Given the description of an element on the screen output the (x, y) to click on. 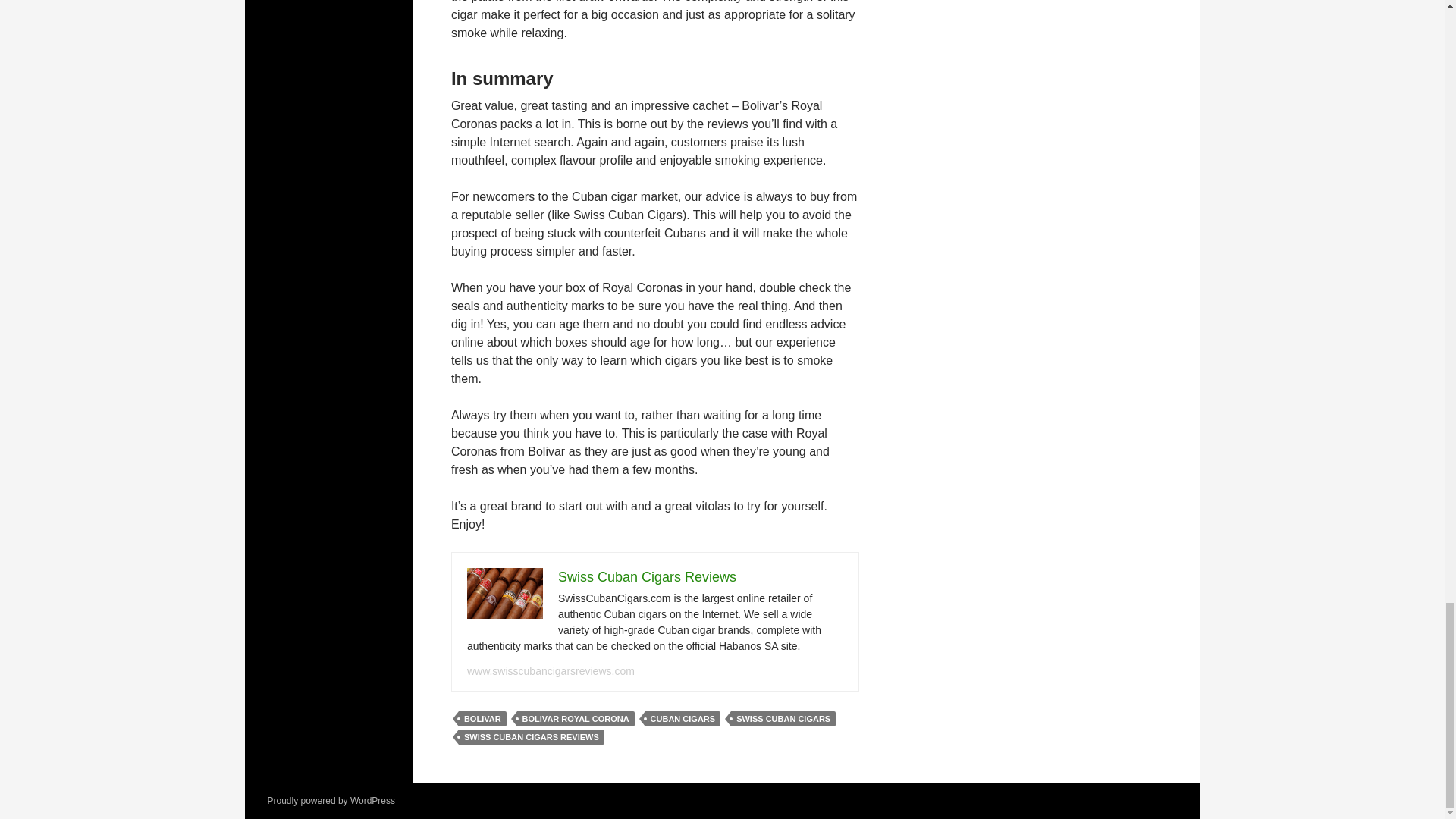
Proudly powered by WordPress (330, 800)
BOLIVAR (482, 718)
SWISS CUBAN CIGARS (782, 718)
BOLIVAR ROYAL CORONA (575, 718)
www.swisscubancigarsreviews.com (550, 671)
CUBAN CIGARS (682, 718)
Swiss Cuban Cigars Reviews (646, 576)
SWISS CUBAN CIGARS REVIEWS (531, 736)
